Given the description of an element on the screen output the (x, y) to click on. 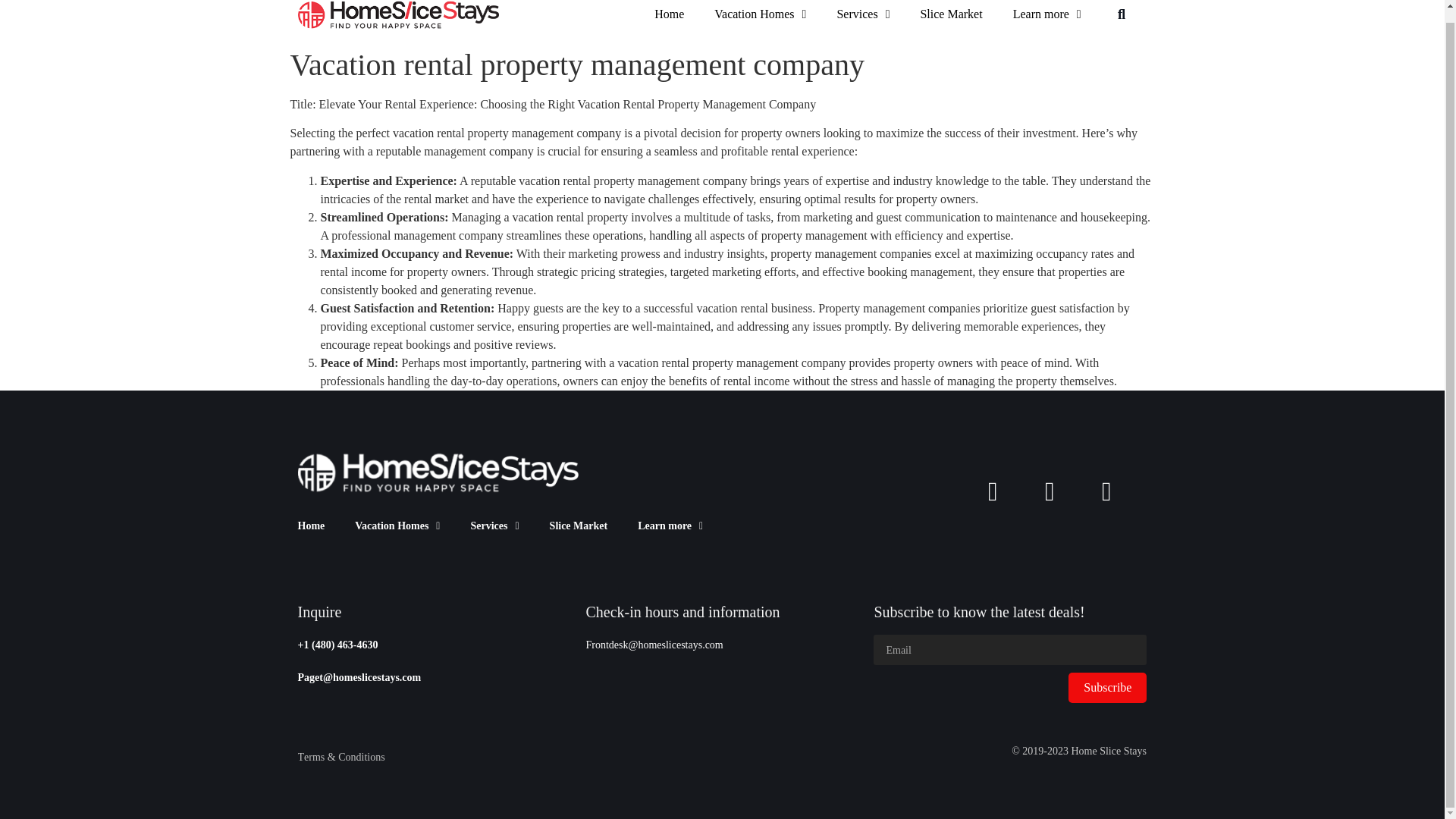
Vacation Homes (396, 525)
Home (310, 525)
Learn more (1046, 15)
Home (668, 15)
Services (494, 525)
Vacation Homes (759, 15)
Services (862, 15)
Slice Market (950, 15)
Slice Market (578, 525)
